Given the description of an element on the screen output the (x, y) to click on. 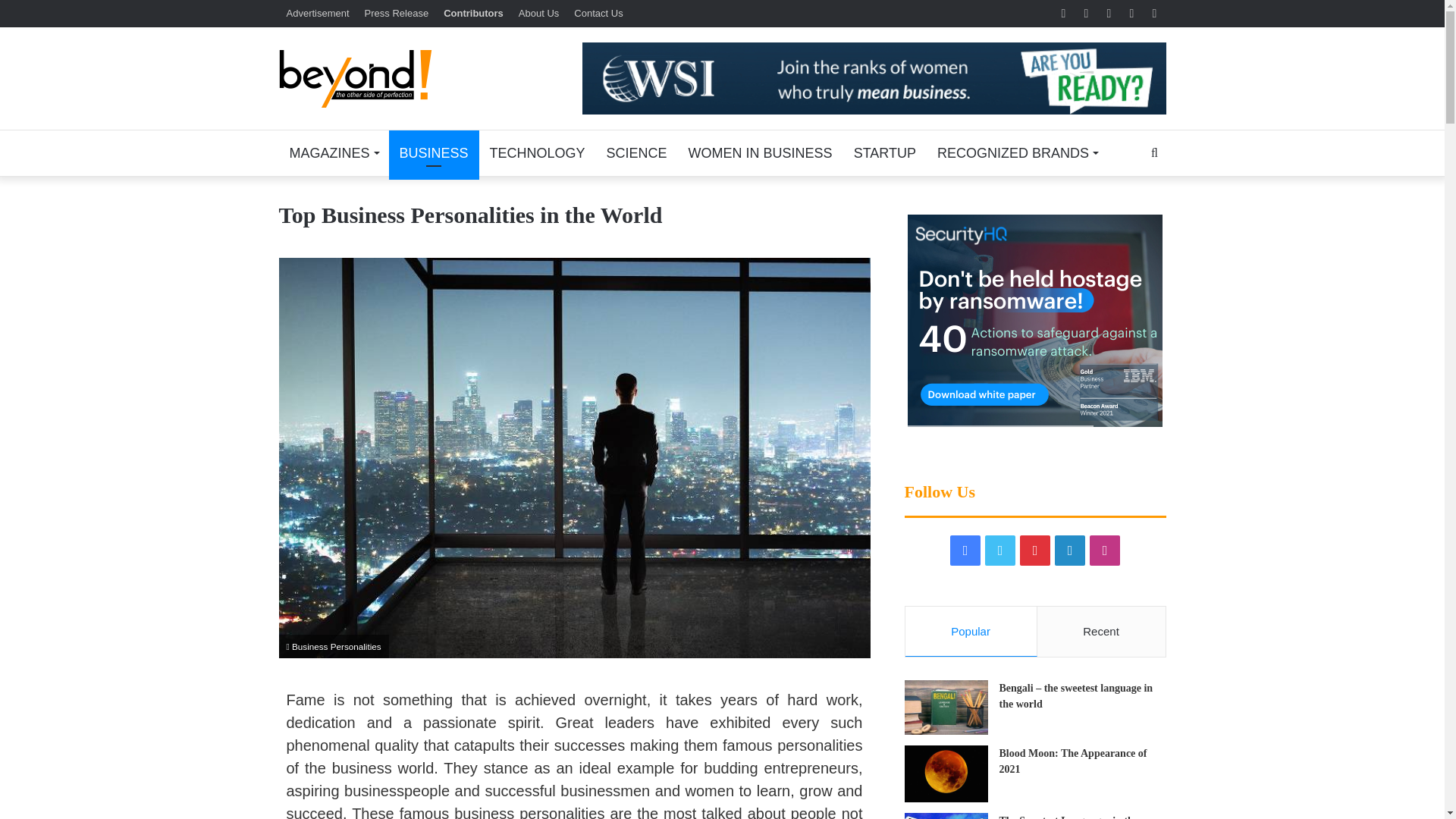
STARTUP (884, 153)
MAGAZINES (333, 153)
Press Release (396, 13)
SCIENCE (636, 153)
BUSINESS (433, 153)
WOMEN IN BUSINESS (760, 153)
TECHNOLOGY (537, 153)
About Us (538, 13)
Contributors (473, 13)
RECOGNIZED BRANDS (1017, 153)
Contact Us (598, 13)
Advertisement (317, 13)
